Given the description of an element on the screen output the (x, y) to click on. 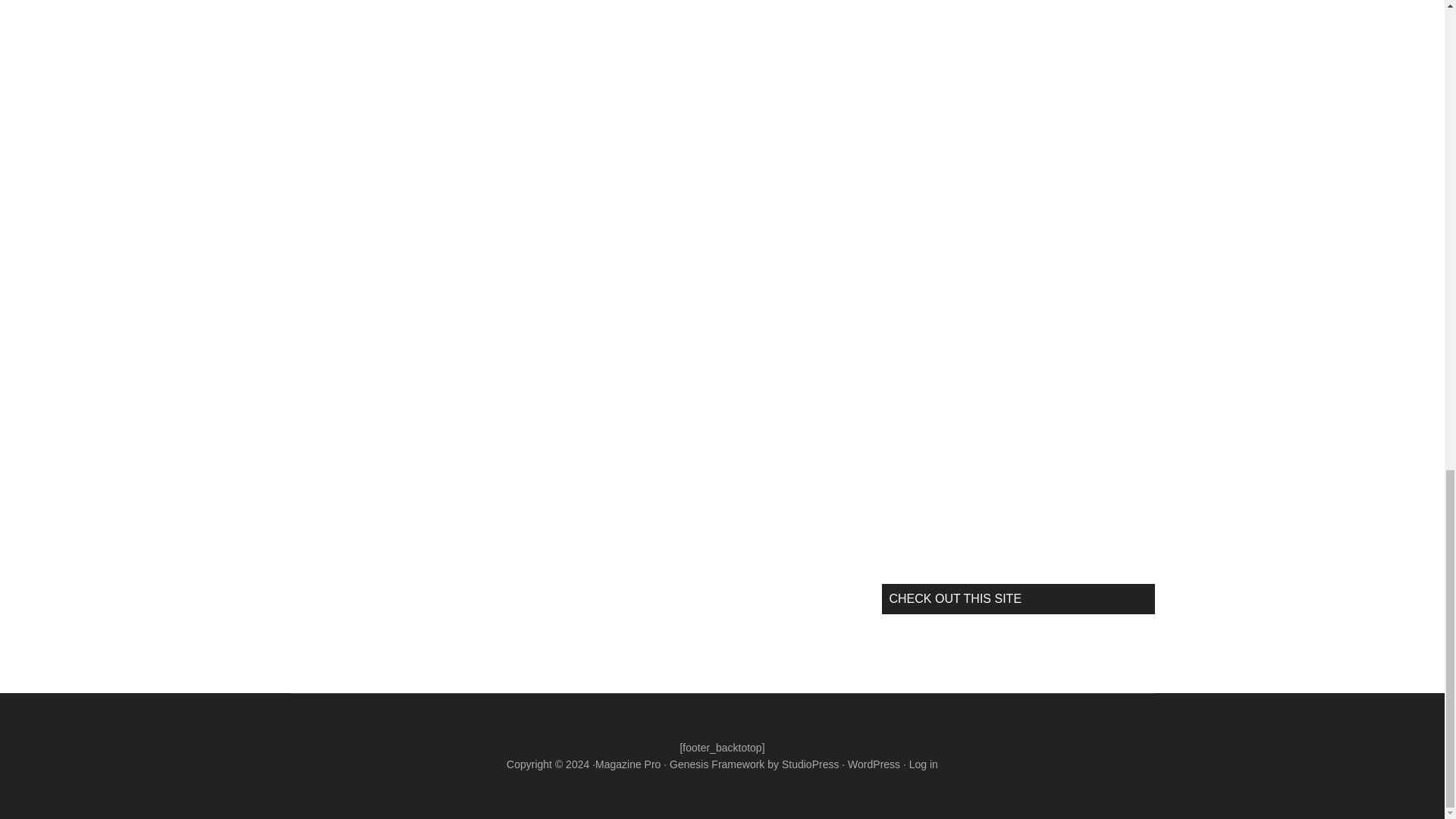
Log in (922, 764)
Magazine Pro (628, 764)
StudioPress (809, 764)
Genesis Framework (716, 764)
WordPress (873, 764)
